Given the description of an element on the screen output the (x, y) to click on. 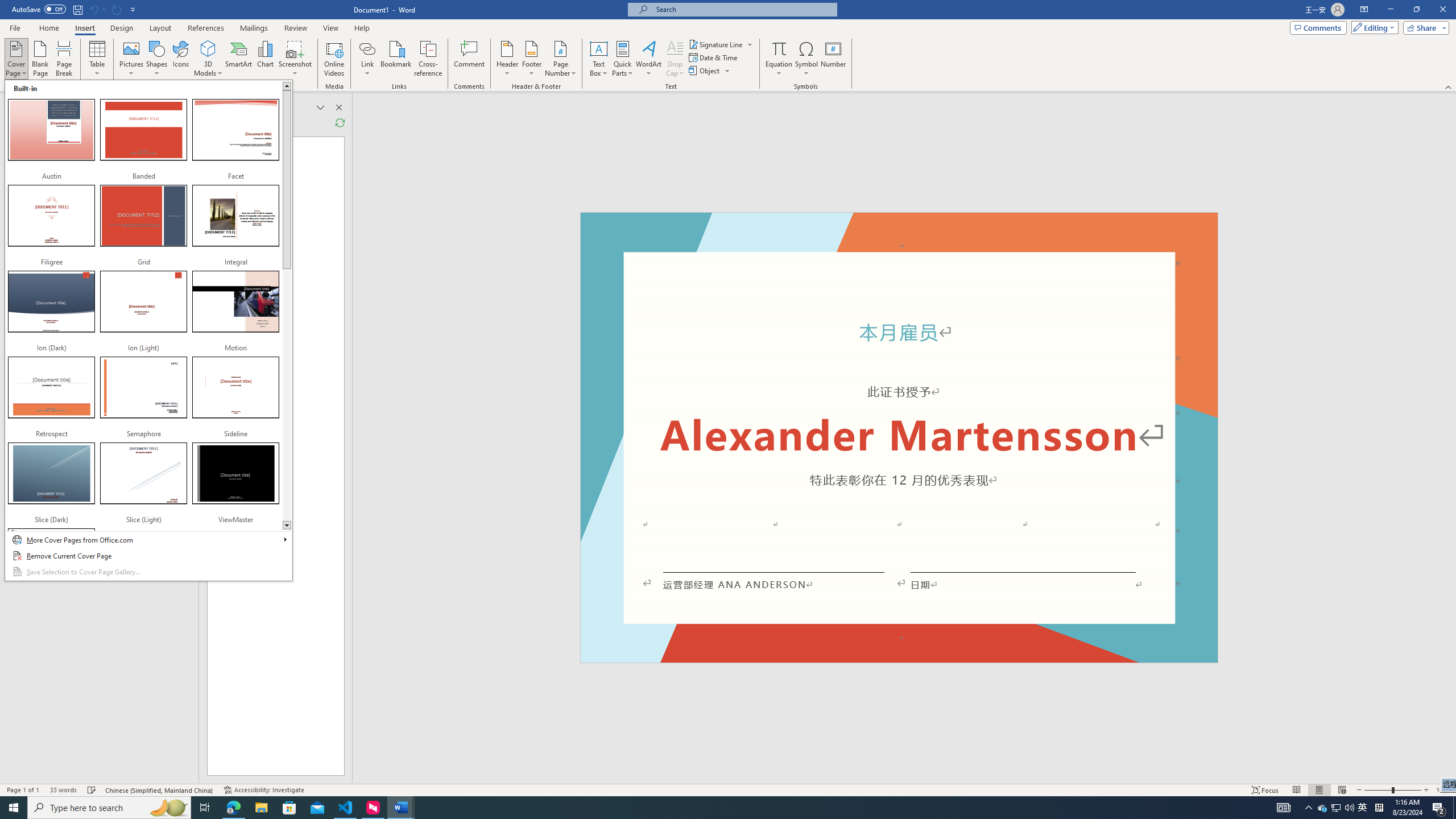
Link (1362, 807)
Search highlights icon opens search home window (367, 48)
Show desktop (167, 807)
Shapes (1454, 807)
3D Models (156, 58)
Visual Studio Code - 1 running window (208, 58)
